Given the description of an element on the screen output the (x, y) to click on. 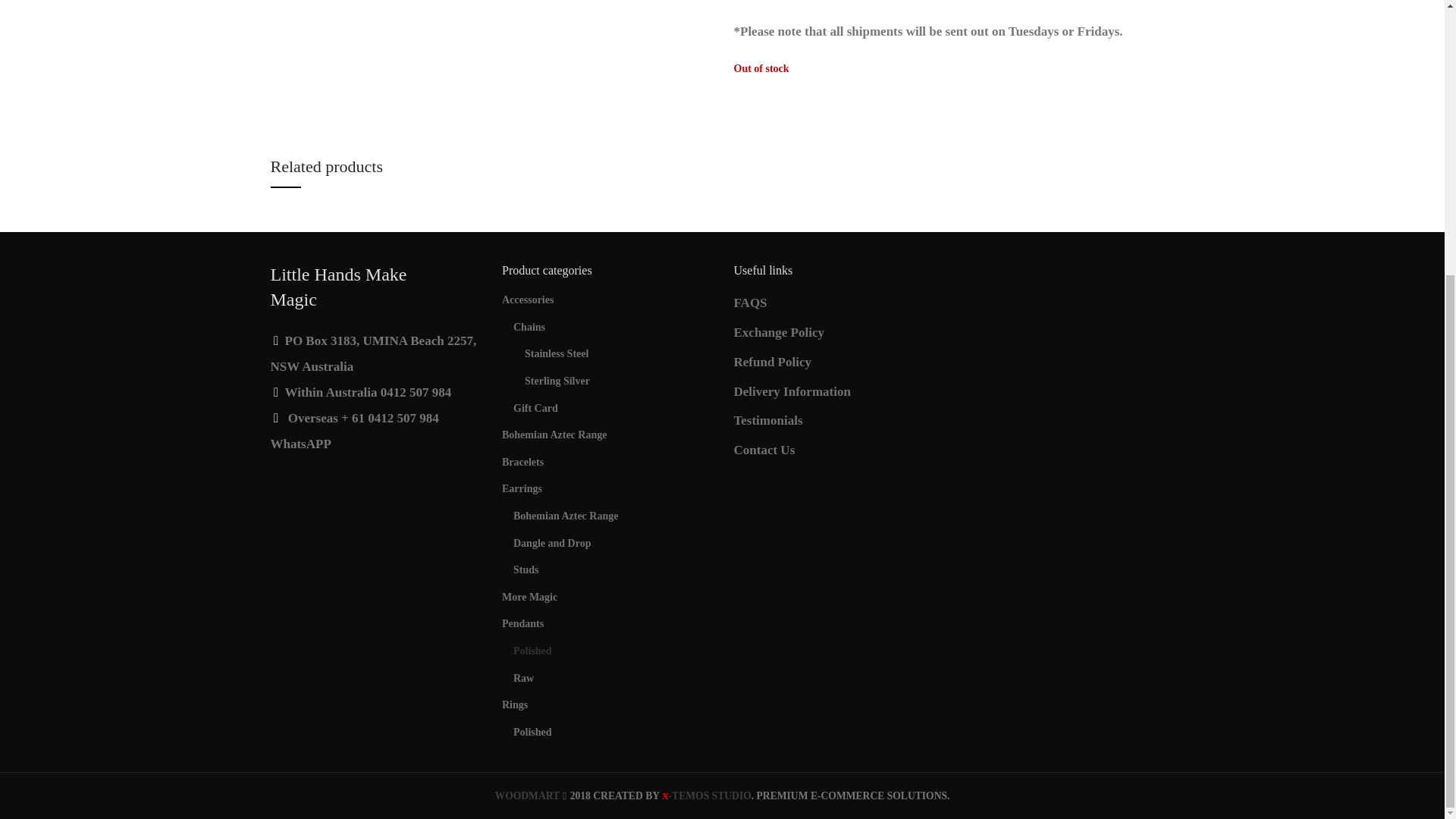
Studs (612, 569)
Pendants (606, 624)
Polished (612, 651)
More Magic (606, 596)
Raw (612, 677)
Bracelets (606, 461)
Bohemian Aztec Range (612, 515)
Chains (612, 327)
Earrings (606, 488)
Accessories (606, 299)
